Given the description of an element on the screen output the (x, y) to click on. 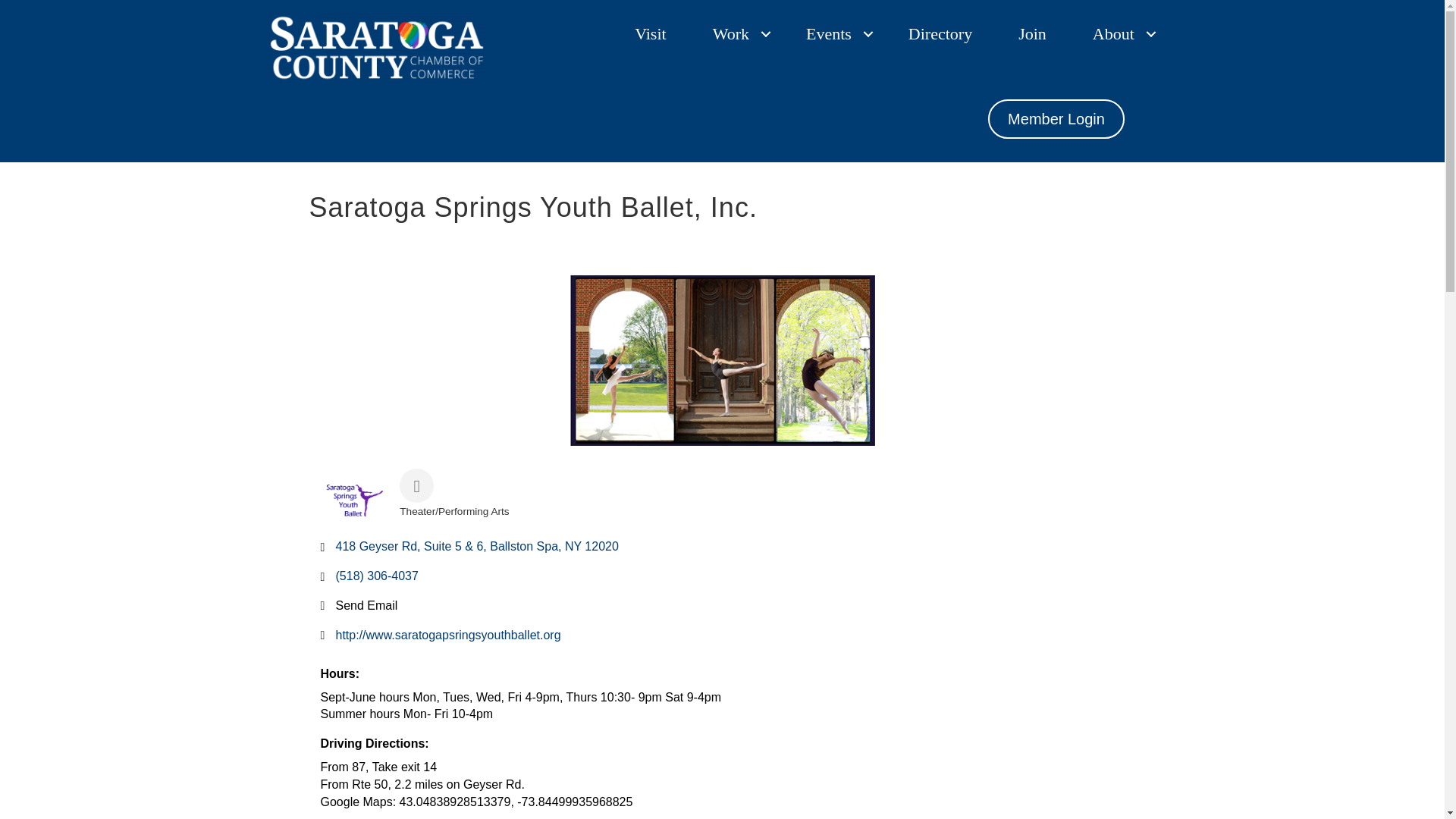
Saratoga Springs Youth Ballet, Inc. (354, 500)
About (1118, 33)
Work (736, 33)
Join (1031, 33)
Directory (939, 33)
Visit (649, 33)
Saratoga Springs Youth Ballet, Inc. (722, 360)
Member Login (1056, 118)
Send Email (365, 605)
Events (834, 33)
